Given the description of an element on the screen output the (x, y) to click on. 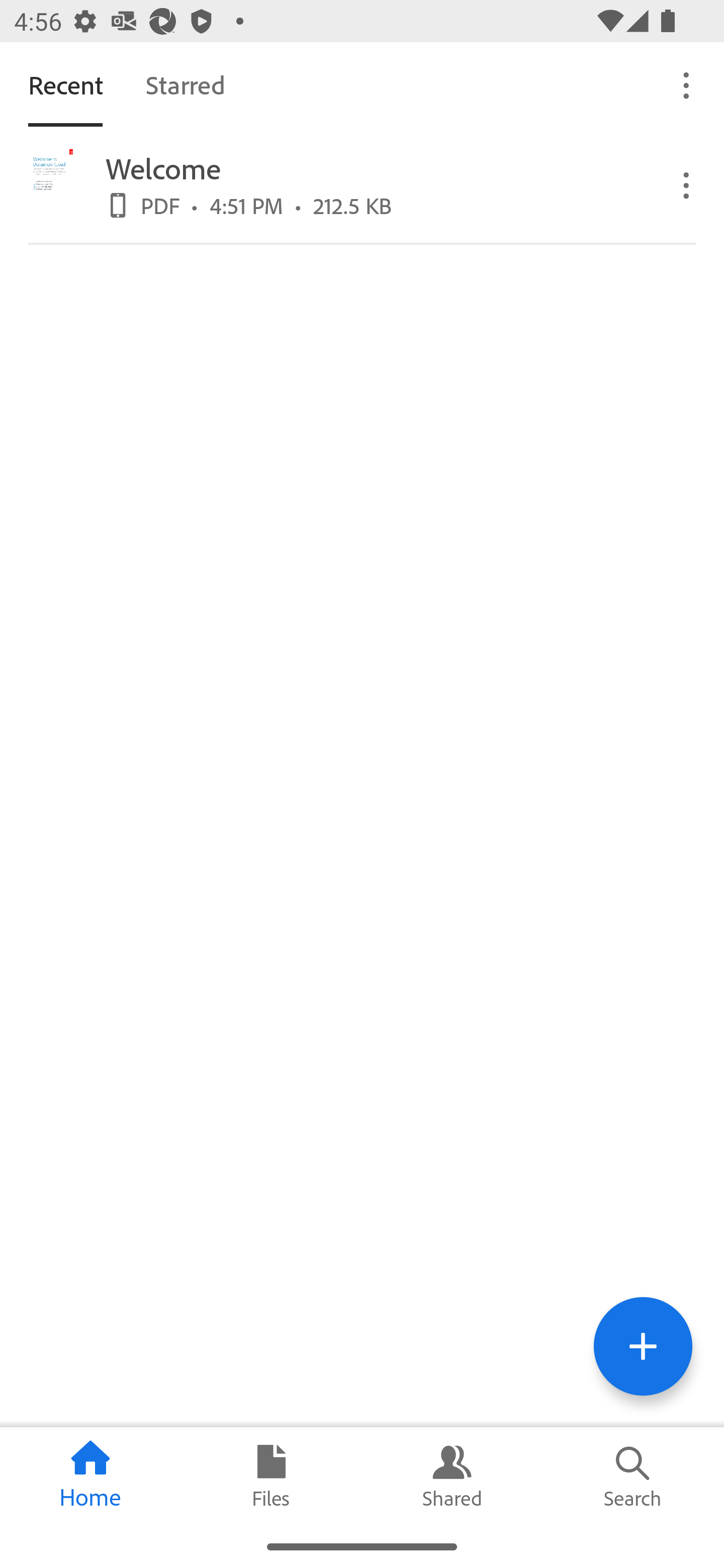
Recent (65, 84)
Starred (185, 84)
Overflow (687, 84)
Overflow (687, 184)
Tools (642, 1345)
Home (90, 1475)
Files (271, 1475)
Shared (452, 1475)
Search (633, 1475)
